Given the description of an element on the screen output the (x, y) to click on. 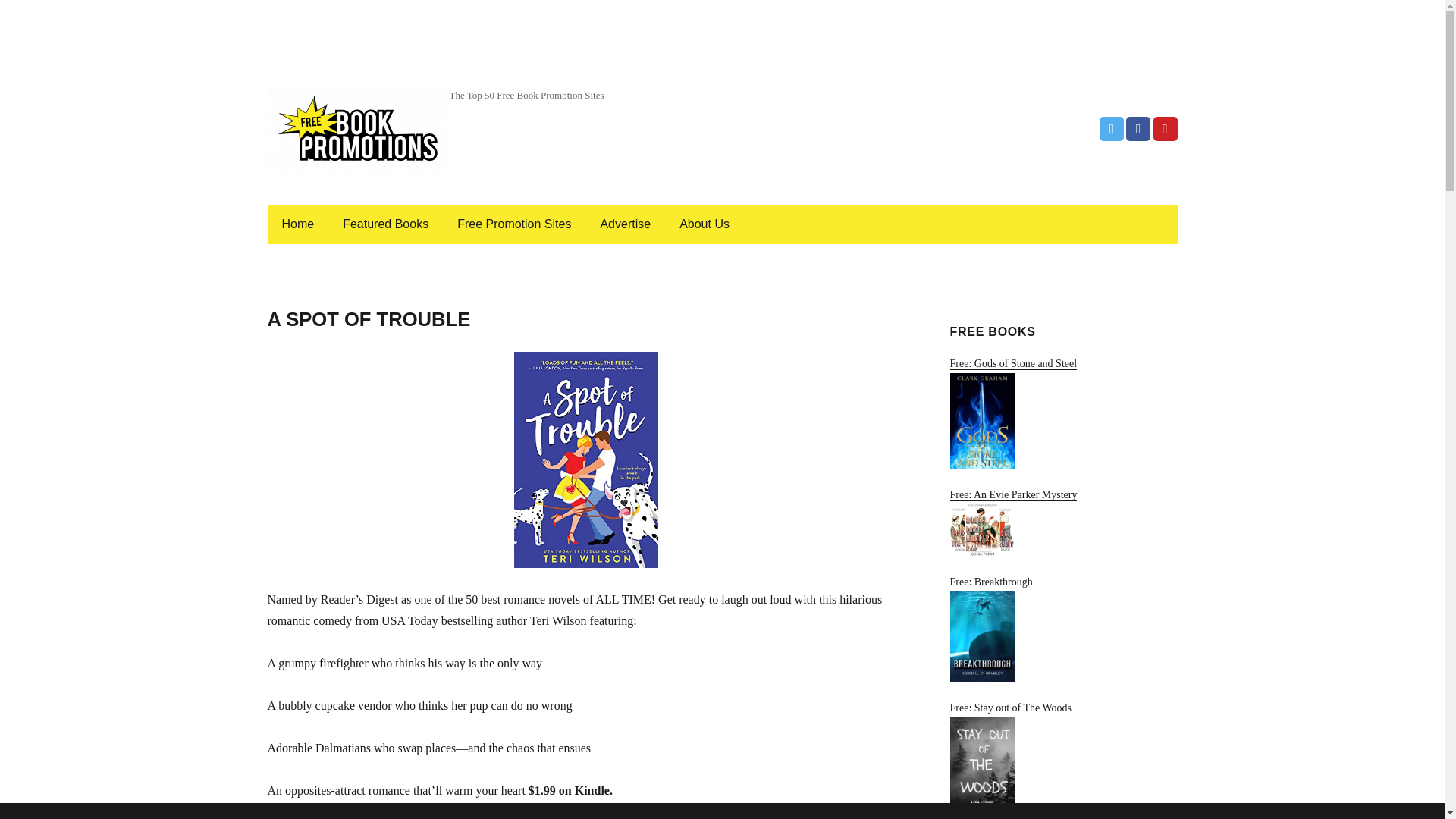
Facebook (1137, 128)
Free: An Evie Parker Mystery (1062, 522)
About Us (703, 224)
Free: Gods of Stone and Steel (1062, 413)
Advertise (625, 224)
Free: Breakthrough (1062, 629)
Pinterest (1164, 128)
Free Promotion Sites (513, 224)
Featured Books (385, 224)
Home (297, 224)
Twitter (1111, 128)
Free: Stay out of The Woods (1062, 760)
